Given the description of an element on the screen output the (x, y) to click on. 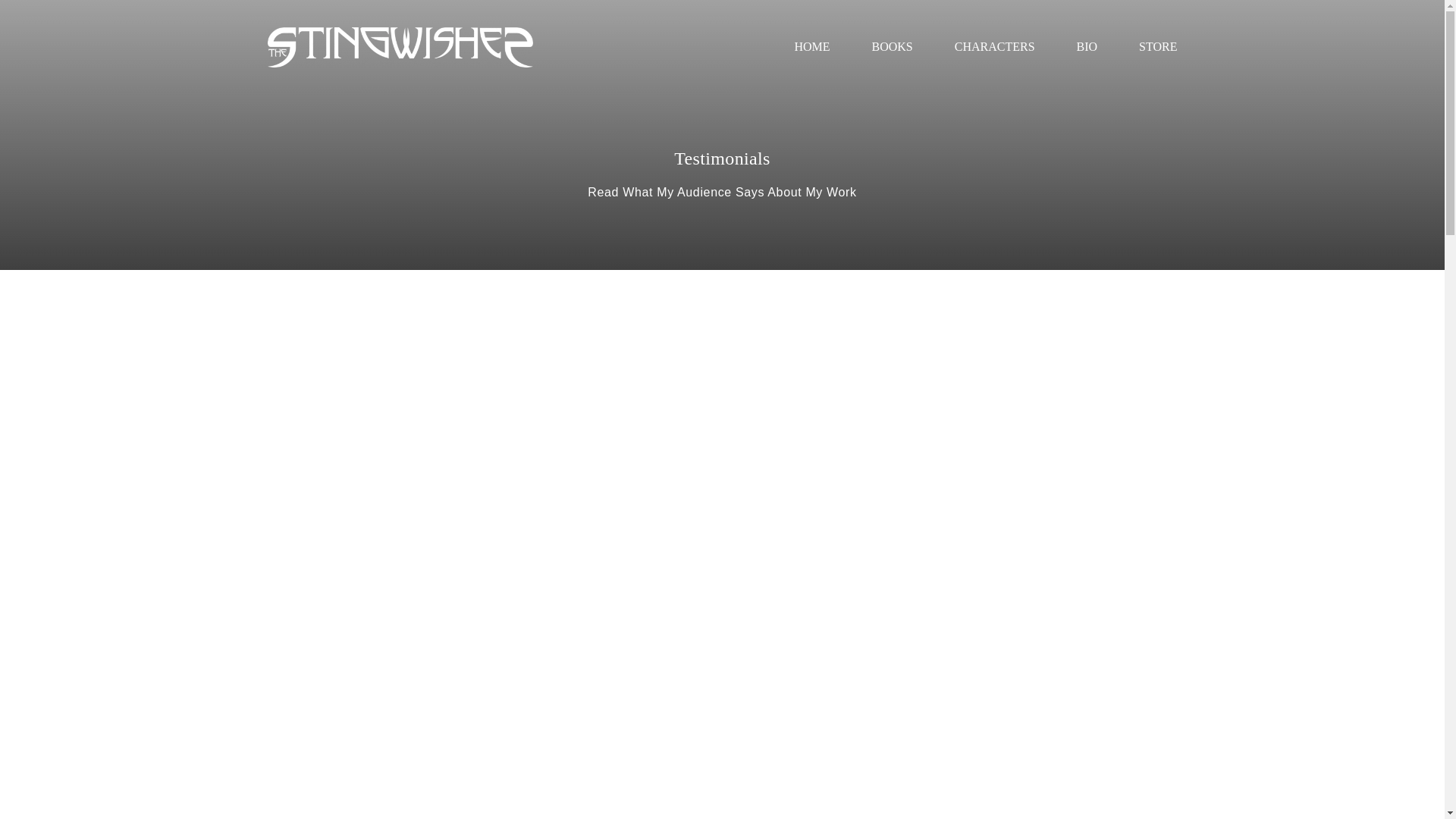
BOOKS (892, 47)
CHARACTERS (995, 47)
